Given the description of an element on the screen output the (x, y) to click on. 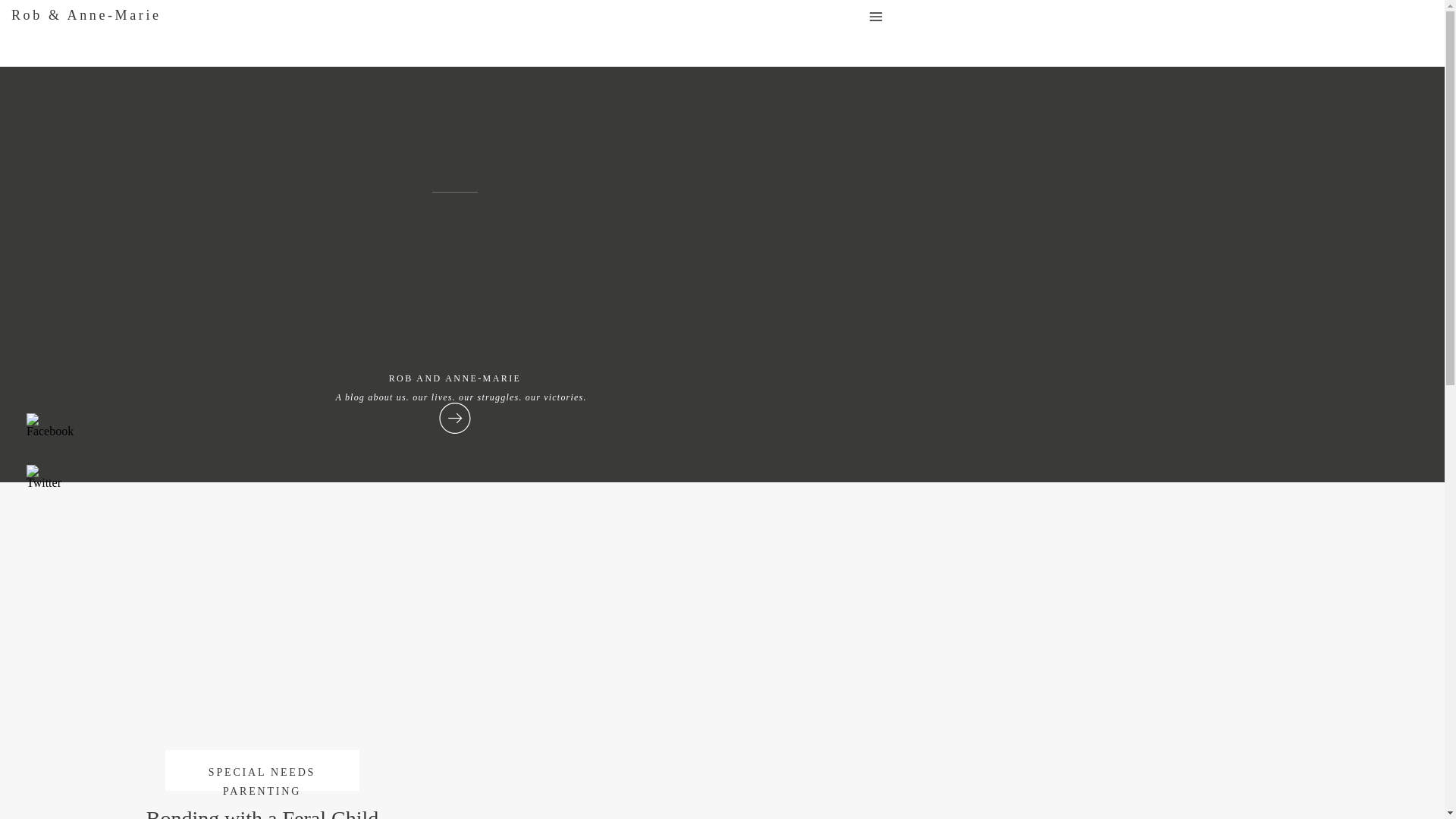
Facebook (50, 425)
Bonding with a Feral Child (262, 812)
Twitter (43, 476)
SPECIAL NEEDS PARENTING (261, 781)
Bonding with a Feral Child (262, 660)
